Given the description of an element on the screen output the (x, y) to click on. 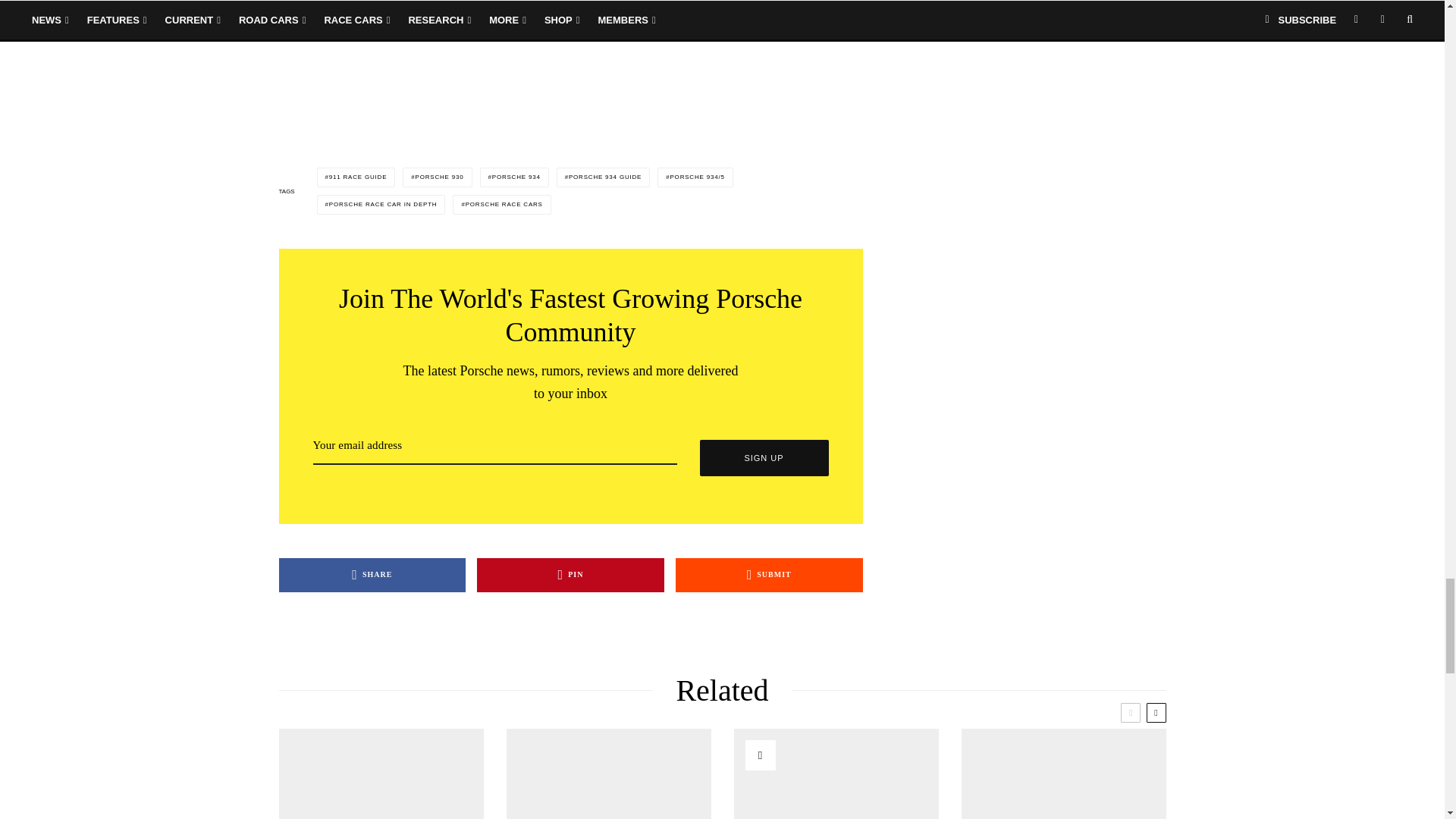
Sign up (763, 457)
